Given the description of an element on the screen output the (x, y) to click on. 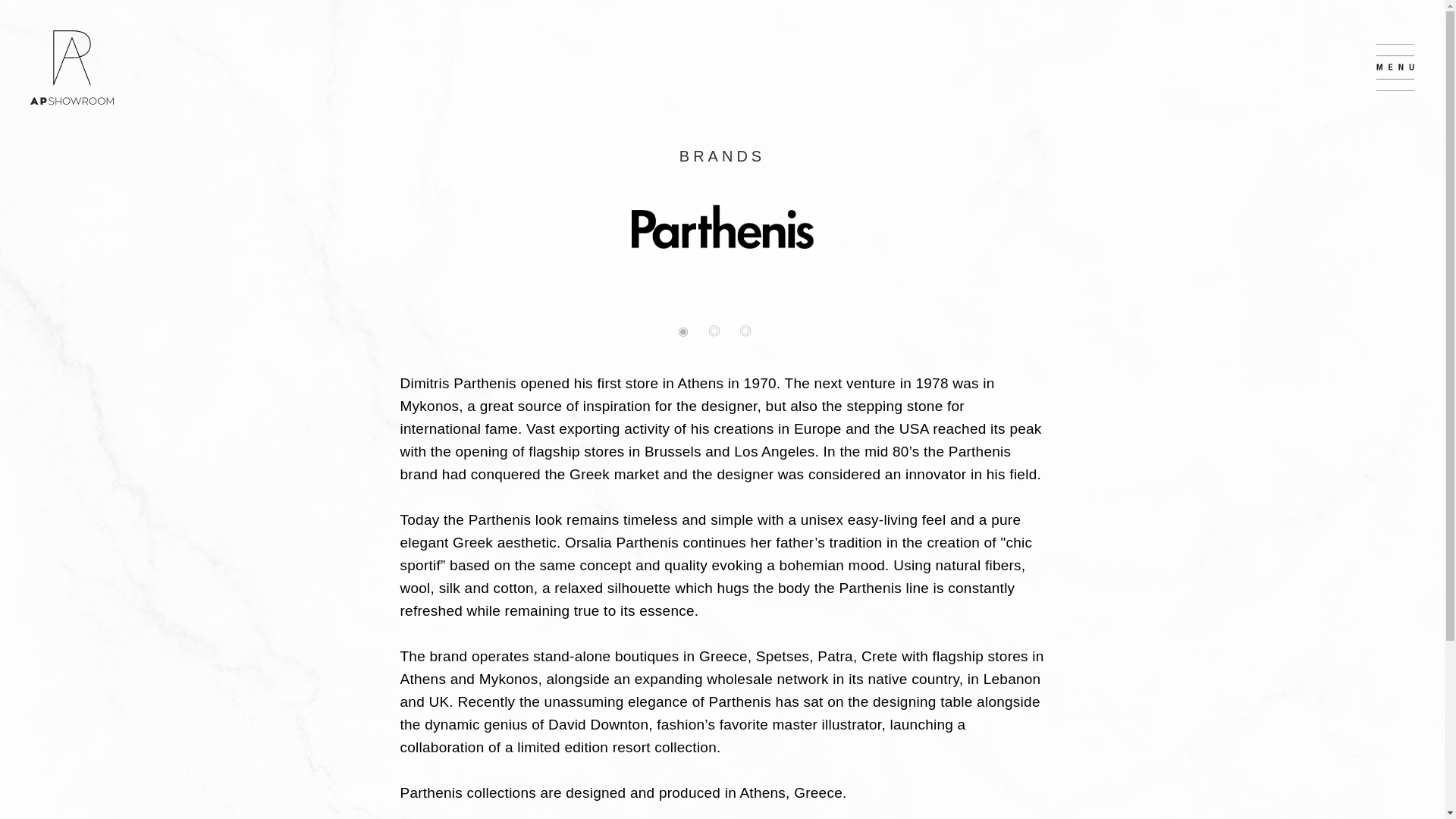
BRANDS (722, 156)
